Given the description of an element on the screen output the (x, y) to click on. 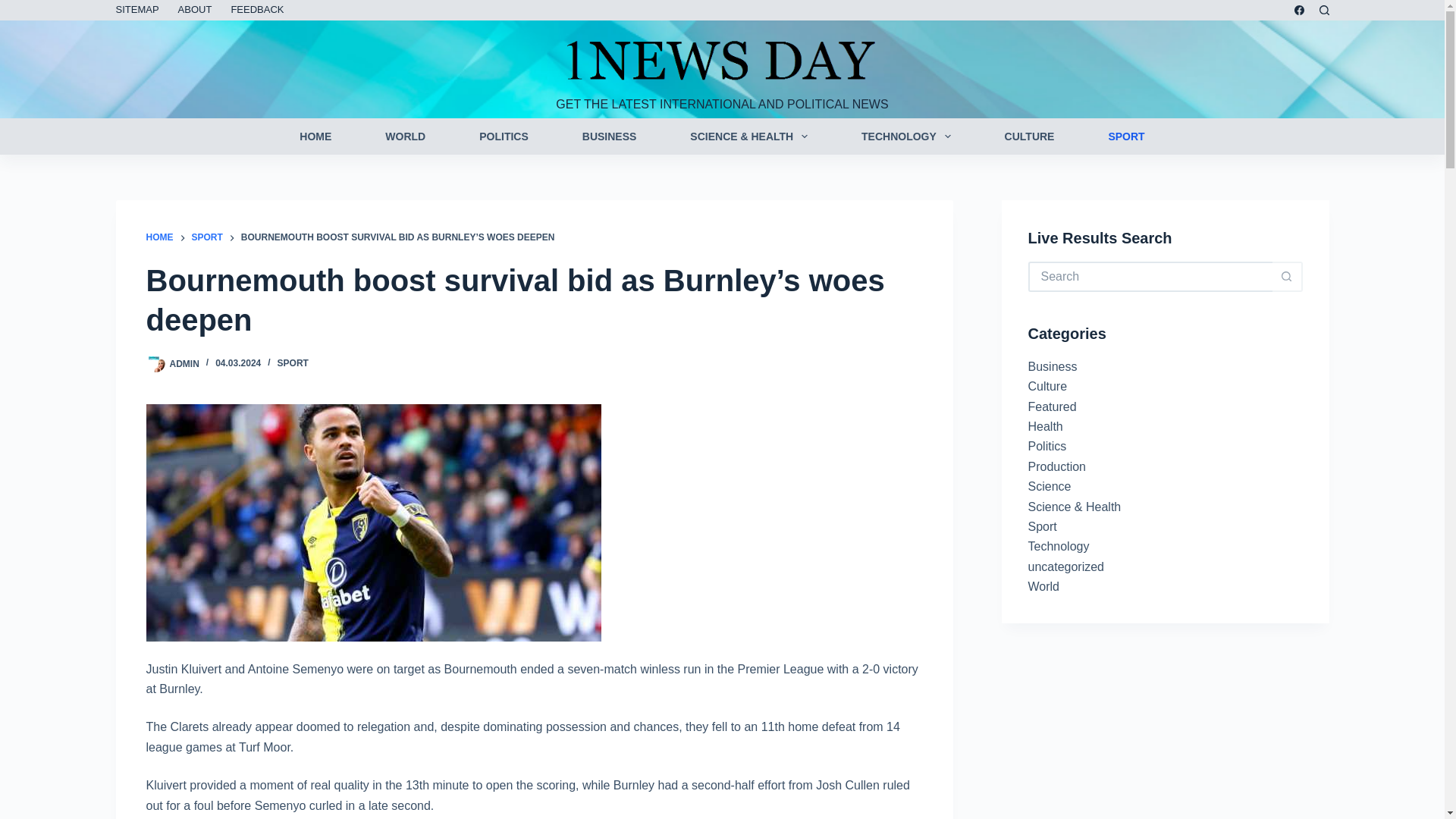
BUSINESS (608, 135)
WORLD (405, 135)
SPORT (206, 237)
POLITICS (504, 135)
FEEDBACK (257, 10)
Posts by admin (184, 362)
CULTURE (1028, 135)
HOME (159, 237)
SPORT (1126, 135)
Skip to content (15, 7)
Search for... (1149, 276)
SITEMAP (141, 10)
HOME (315, 135)
TECHNOLOGY (906, 135)
ABOUT (194, 10)
